Given the description of an element on the screen output the (x, y) to click on. 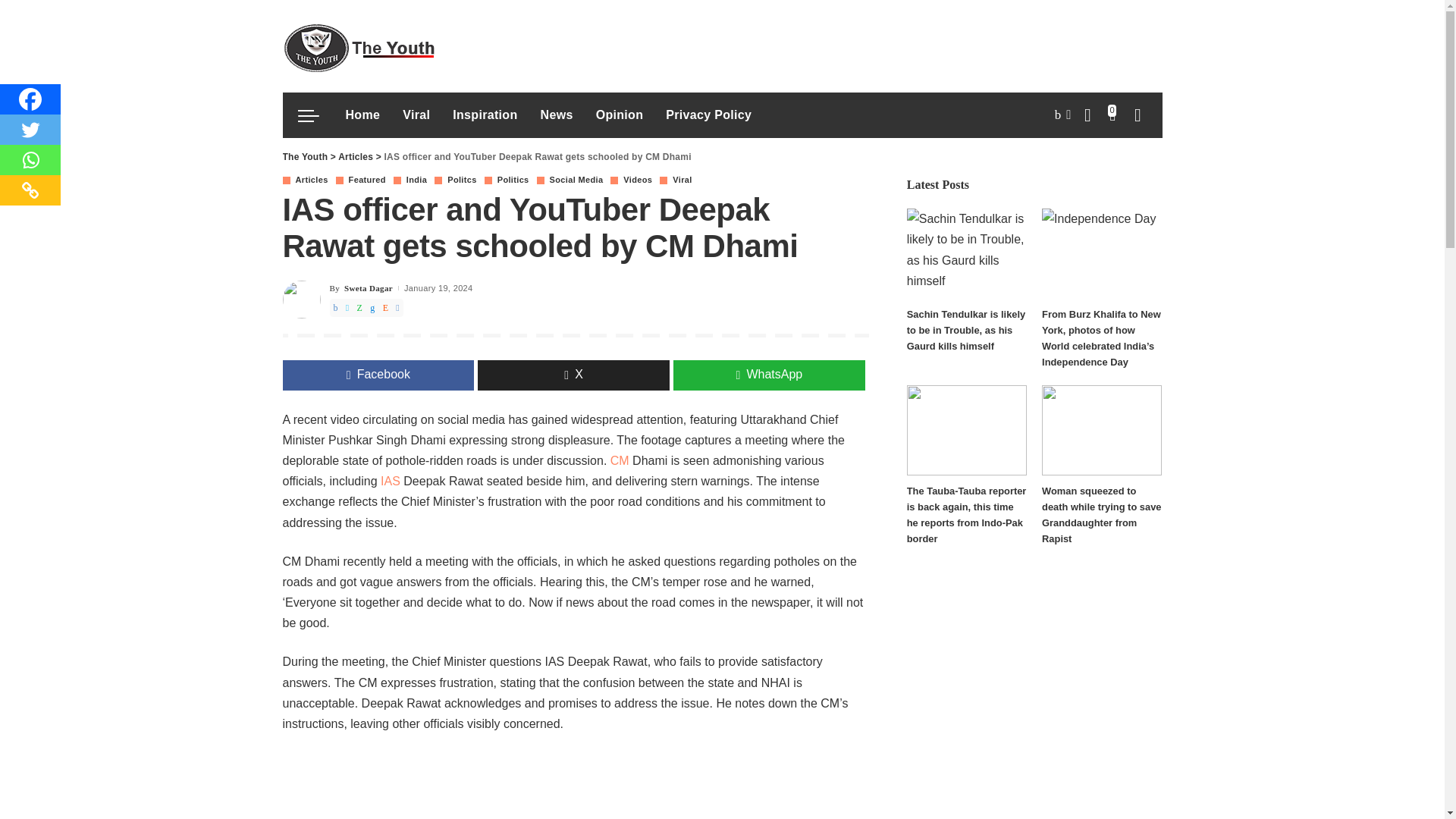
The Youth (357, 45)
Go to The Youth. (304, 156)
Go to the Articles Category archives. (354, 156)
